Given the description of an element on the screen output the (x, y) to click on. 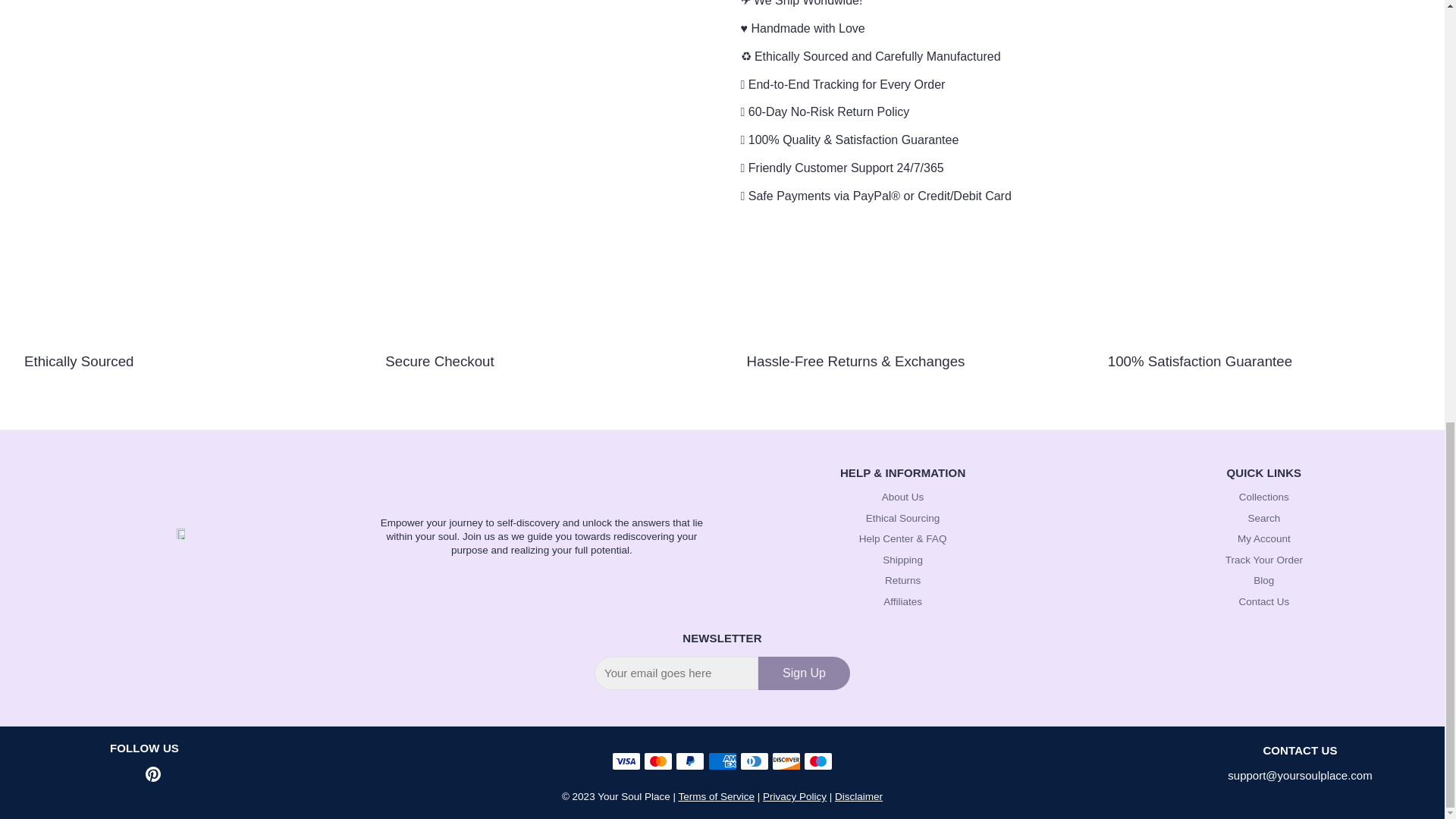
American Express (721, 761)
Discover (785, 761)
Visa (625, 761)
Terms of Service (716, 796)
PayPal (689, 761)
Mastercard (657, 761)
Diners Club (753, 761)
Maestro (817, 761)
